Given the description of an element on the screen output the (x, y) to click on. 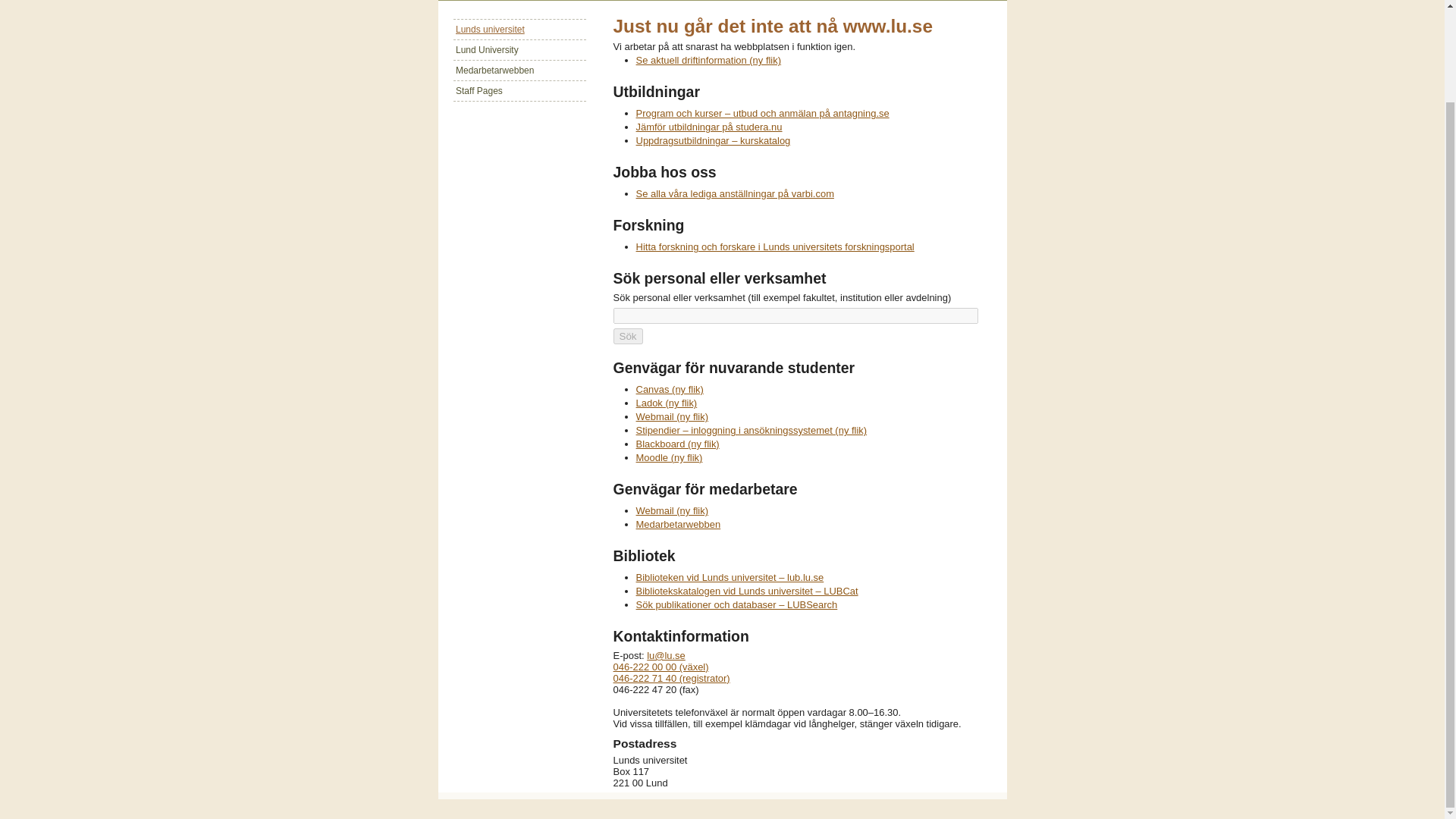
Medarbetarwebben (678, 523)
Staff Pages (519, 90)
Lunds universitet (519, 28)
Lund University (519, 49)
Medarbetarwebben (519, 69)
